Given the description of an element on the screen output the (x, y) to click on. 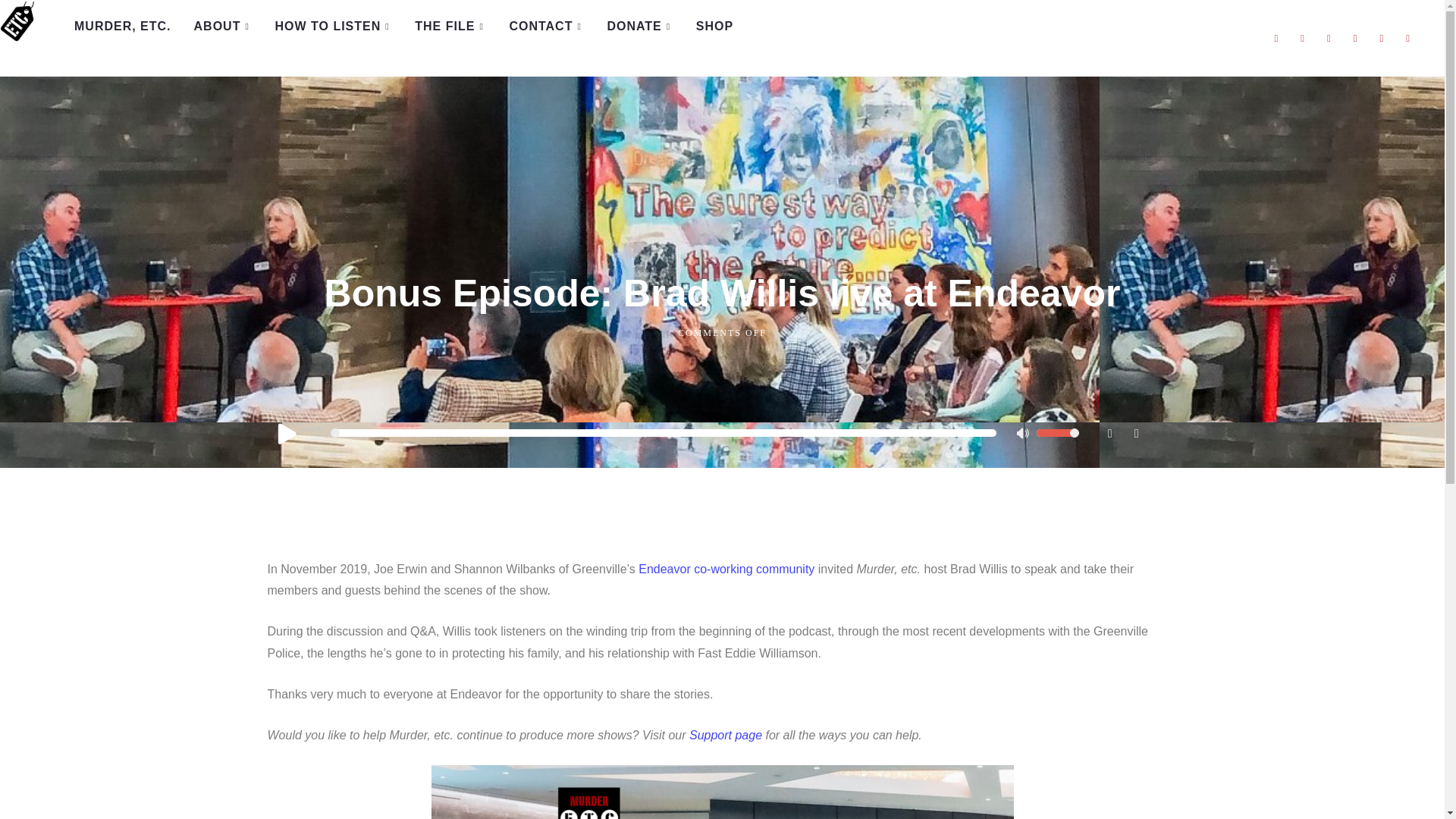
HOW TO LISTEN (333, 26)
SHOP (714, 26)
Murder, etc Podcast (20, 21)
CONTACT (546, 26)
THE FILE (450, 26)
ABOUT (223, 26)
Mute (1023, 435)
DONATE (639, 26)
MURDER, ETC. (122, 26)
Play (285, 432)
